Given the description of an element on the screen output the (x, y) to click on. 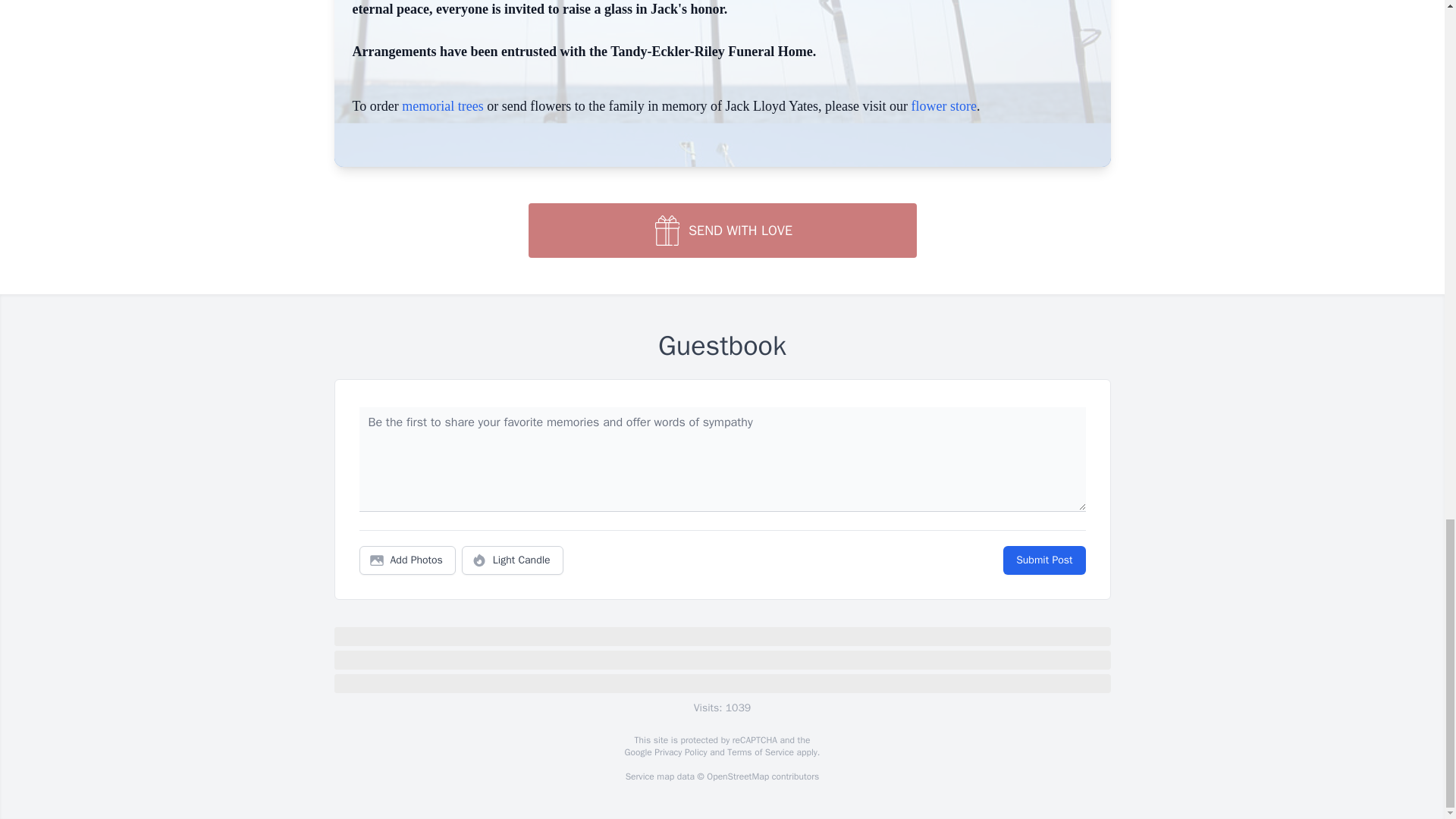
OpenStreetMap (737, 776)
SEND WITH LOVE (721, 230)
Add Photos (407, 560)
Submit Post (1043, 560)
Privacy Policy (679, 752)
Terms of Service (759, 752)
flower store (943, 105)
memorial trees (442, 105)
Light Candle (512, 560)
